Given the description of an element on the screen output the (x, y) to click on. 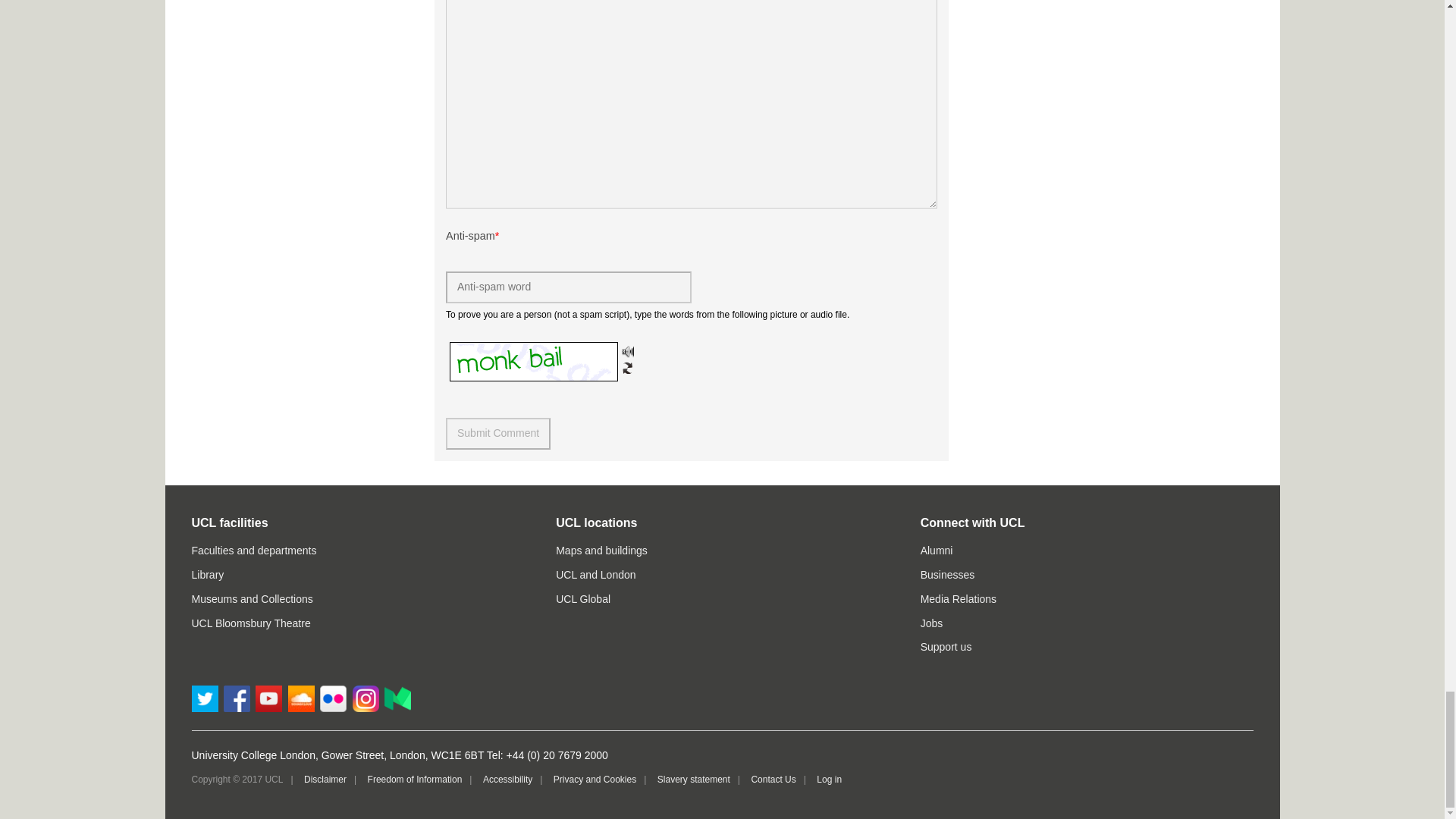
Submit Comment (497, 433)
